Given the description of an element on the screen output the (x, y) to click on. 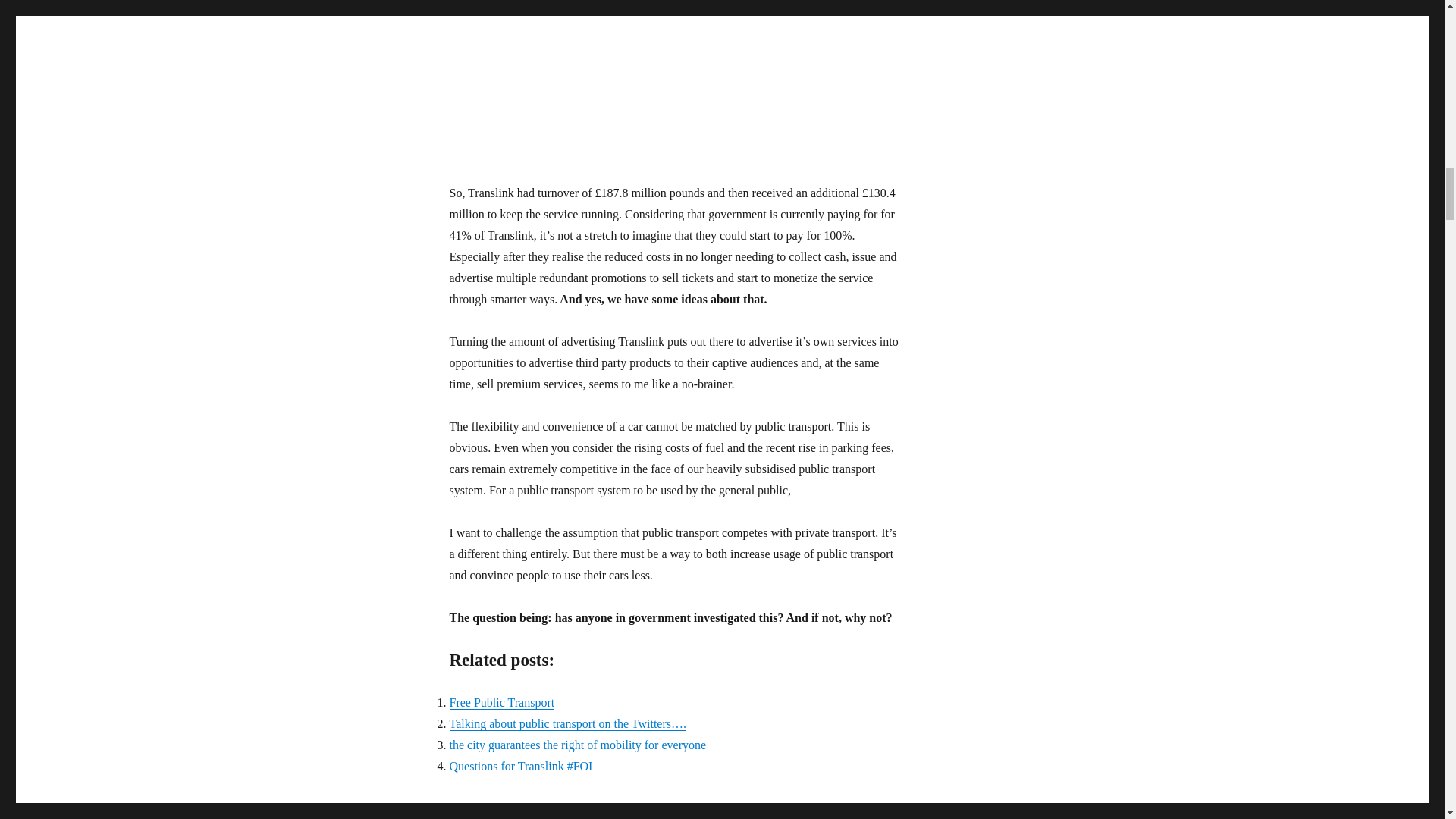
Free Public Transport (501, 702)
Screen Shot 2012-05-02 at 10.26.36 (677, 80)
the city guarantees the right of mobility for everyone (577, 744)
the city guarantees the right of mobility for everyone (577, 744)
Free Public Transport (501, 702)
